Given the description of an element on the screen output the (x, y) to click on. 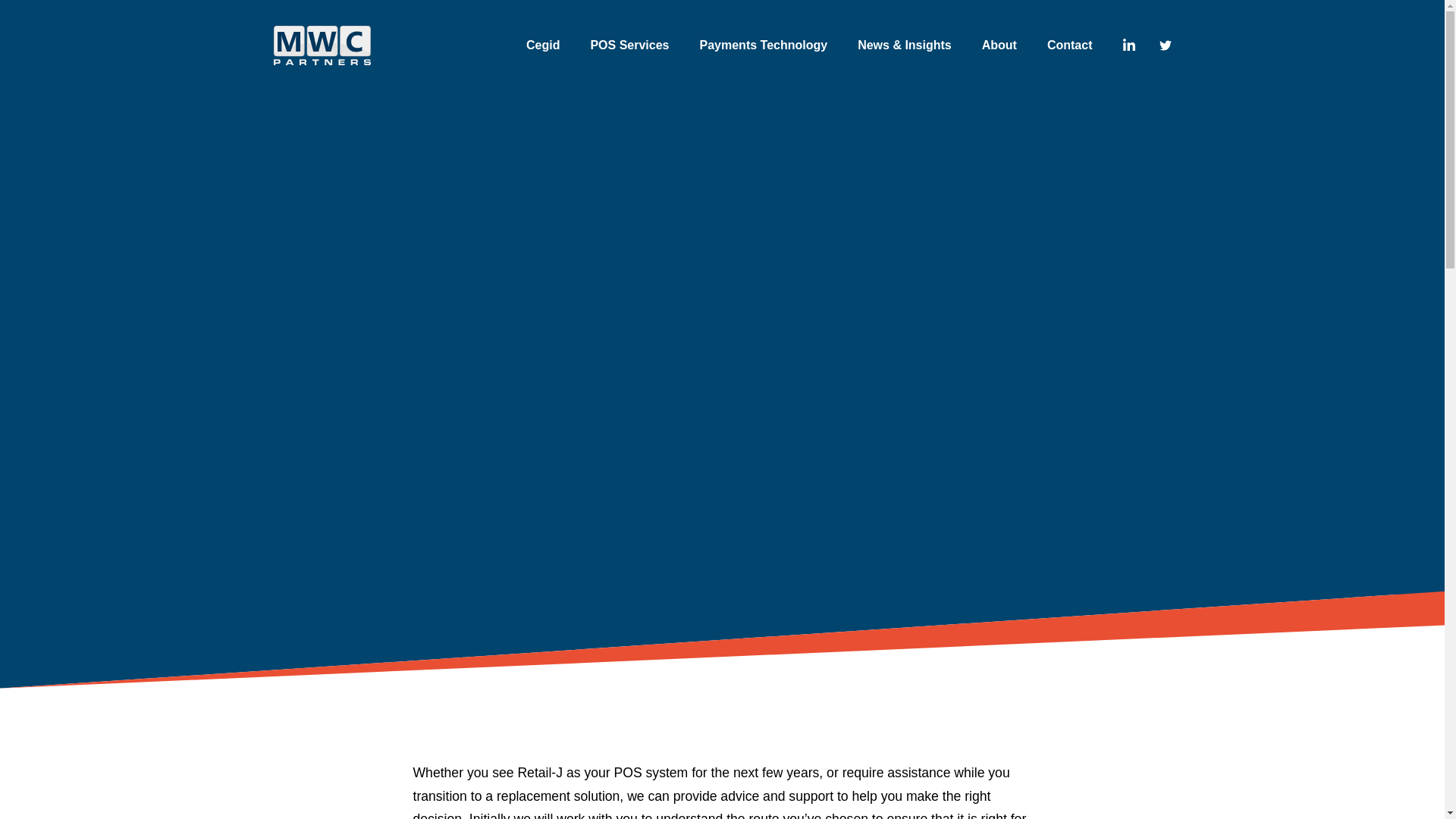
POS Services (628, 45)
Skip to content (30, 18)
About (998, 45)
Contact (1069, 45)
Payments Technology (764, 45)
Cegid (542, 45)
